Given the description of an element on the screen output the (x, y) to click on. 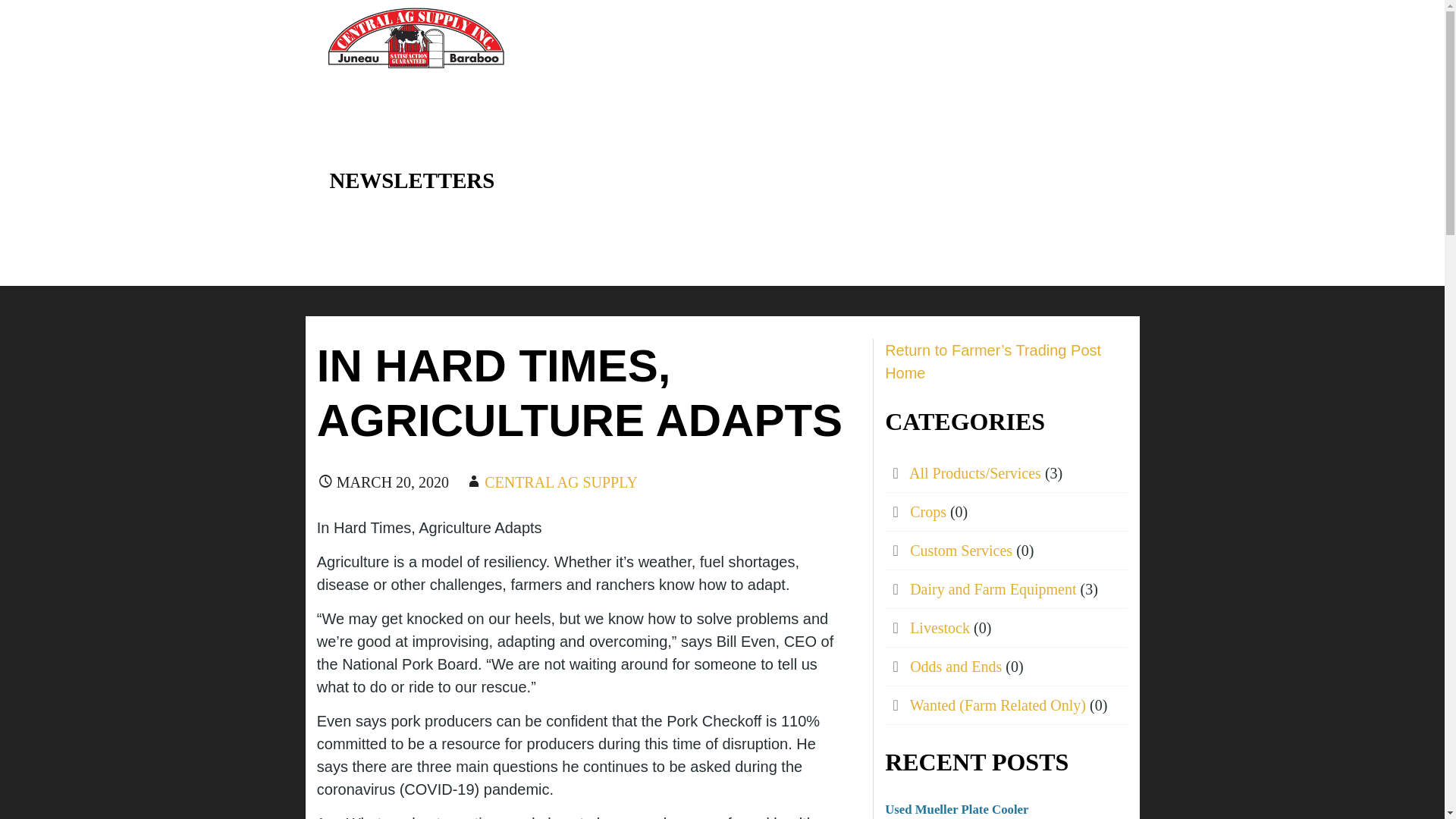
Dairy and Farm Equipment (992, 588)
Custom Services (960, 550)
Used Mueller Plate Cooler (956, 809)
CAREERS (653, 38)
CENTRAL AG SUPPLY SERVICES (482, 86)
CENTRAL AG SUPPLY (560, 482)
CONTACT (897, 38)
Posts by Central Ag Supply (560, 482)
Odds and Ends (955, 666)
Livestock (939, 627)
TECHNICAL RESOURCES (1041, 38)
Crops (928, 511)
